Given the description of an element on the screen output the (x, y) to click on. 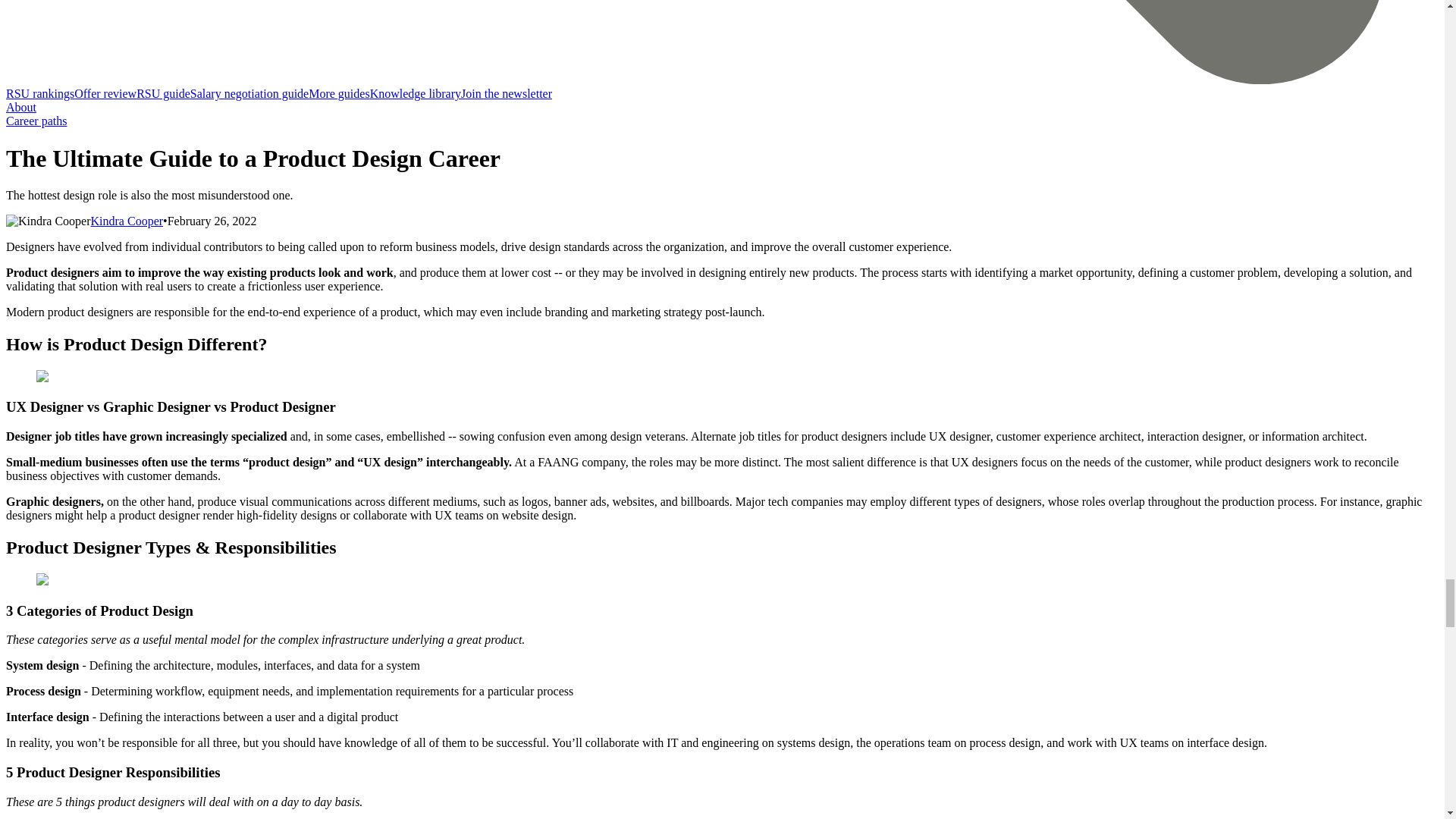
Career paths (35, 120)
RSU rankings (39, 92)
RSU guide (163, 92)
Knowledge library (415, 92)
More guides (338, 92)
Offer review (105, 92)
Join the newsletter (506, 92)
Kindra Cooper (126, 220)
About (20, 106)
Salary negotiation guide (249, 92)
